Given the description of an element on the screen output the (x, y) to click on. 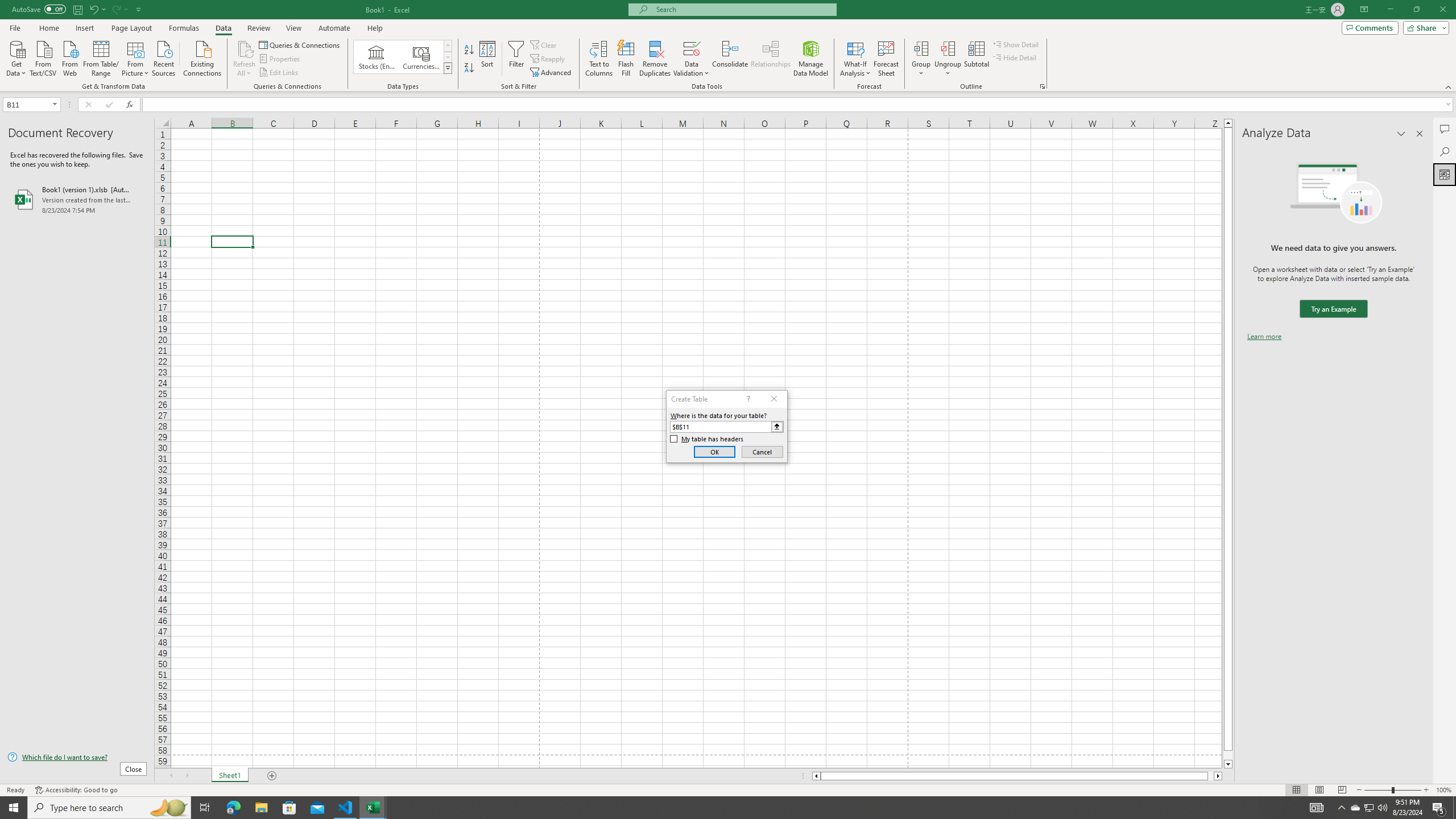
Queries & Connections (300, 44)
